Given the description of an element on the screen output the (x, y) to click on. 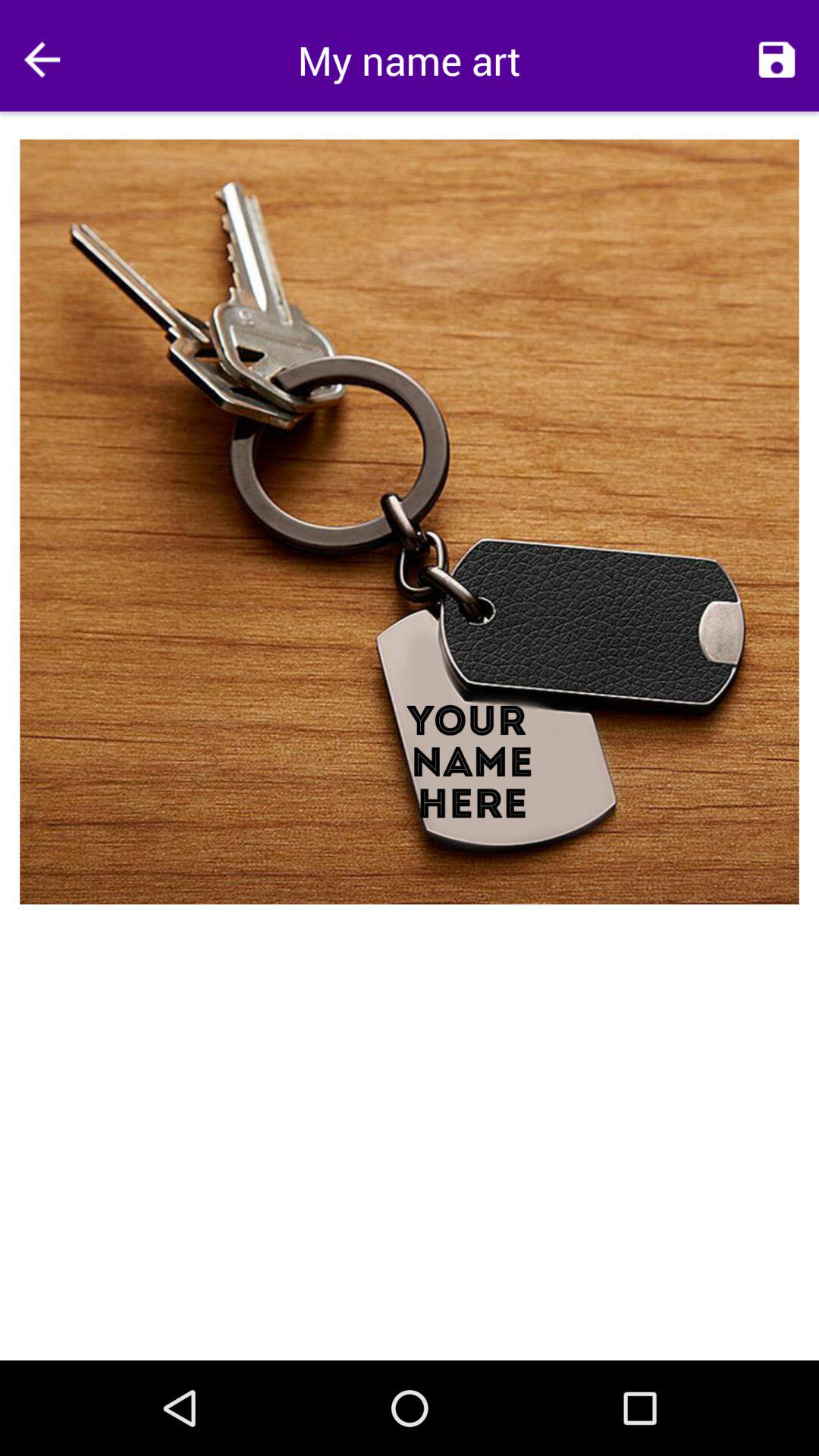
turn off item to the left of the my name art item (41, 59)
